Given the description of an element on the screen output the (x, y) to click on. 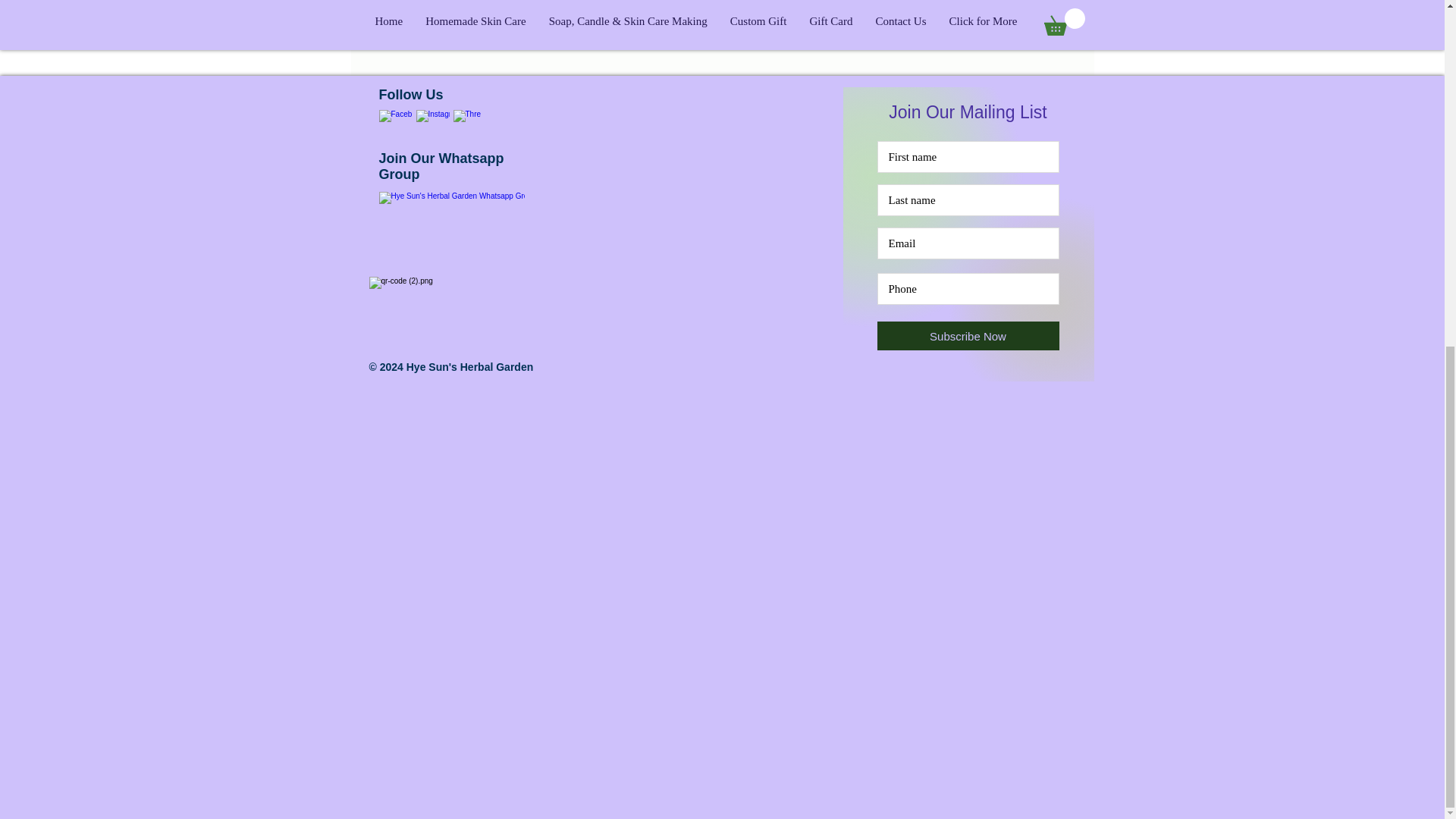
Subscribe Now (967, 335)
